Given the description of an element on the screen output the (x, y) to click on. 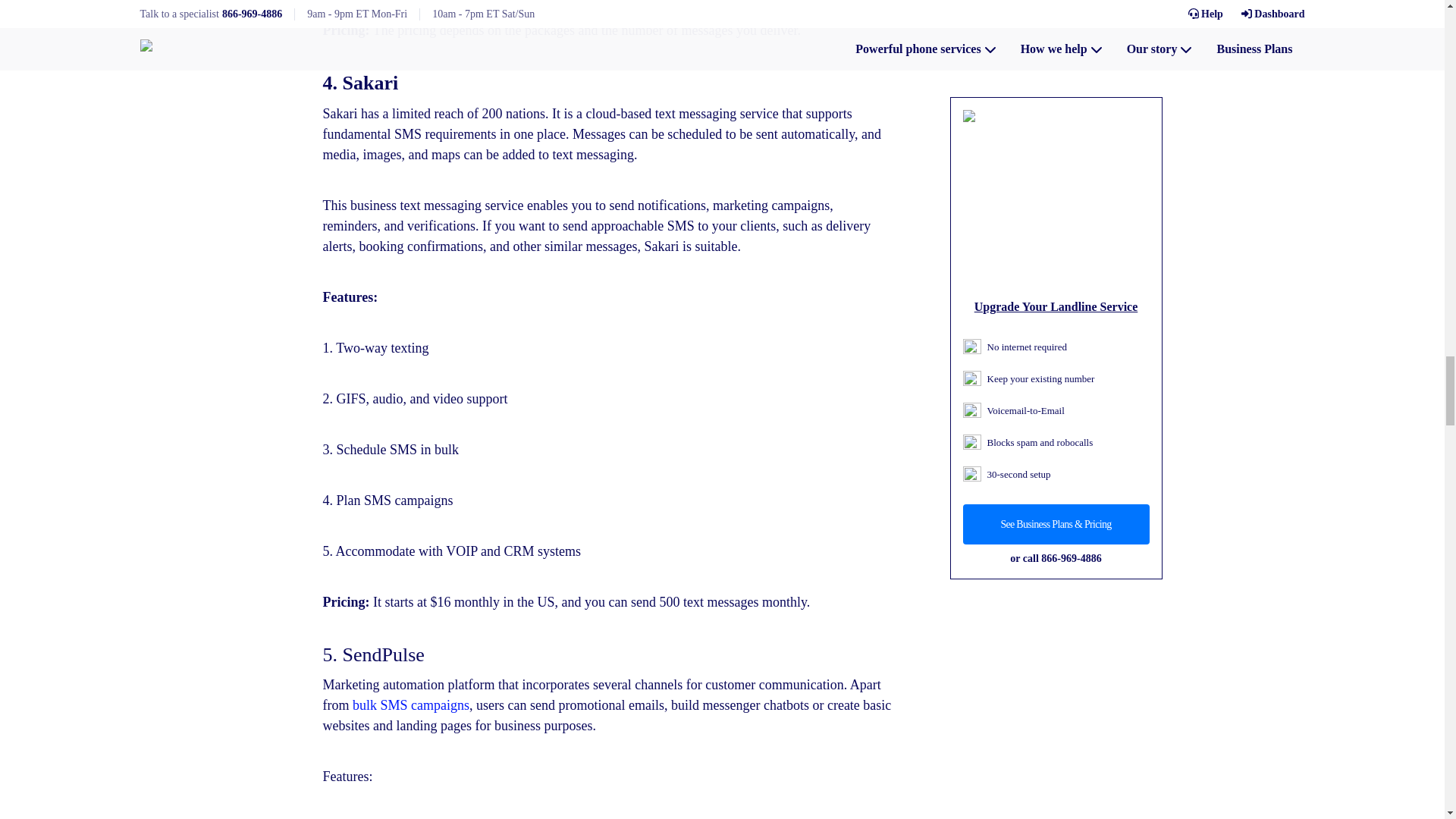
bulk SMS campaigns (410, 704)
